Given the description of an element on the screen output the (x, y) to click on. 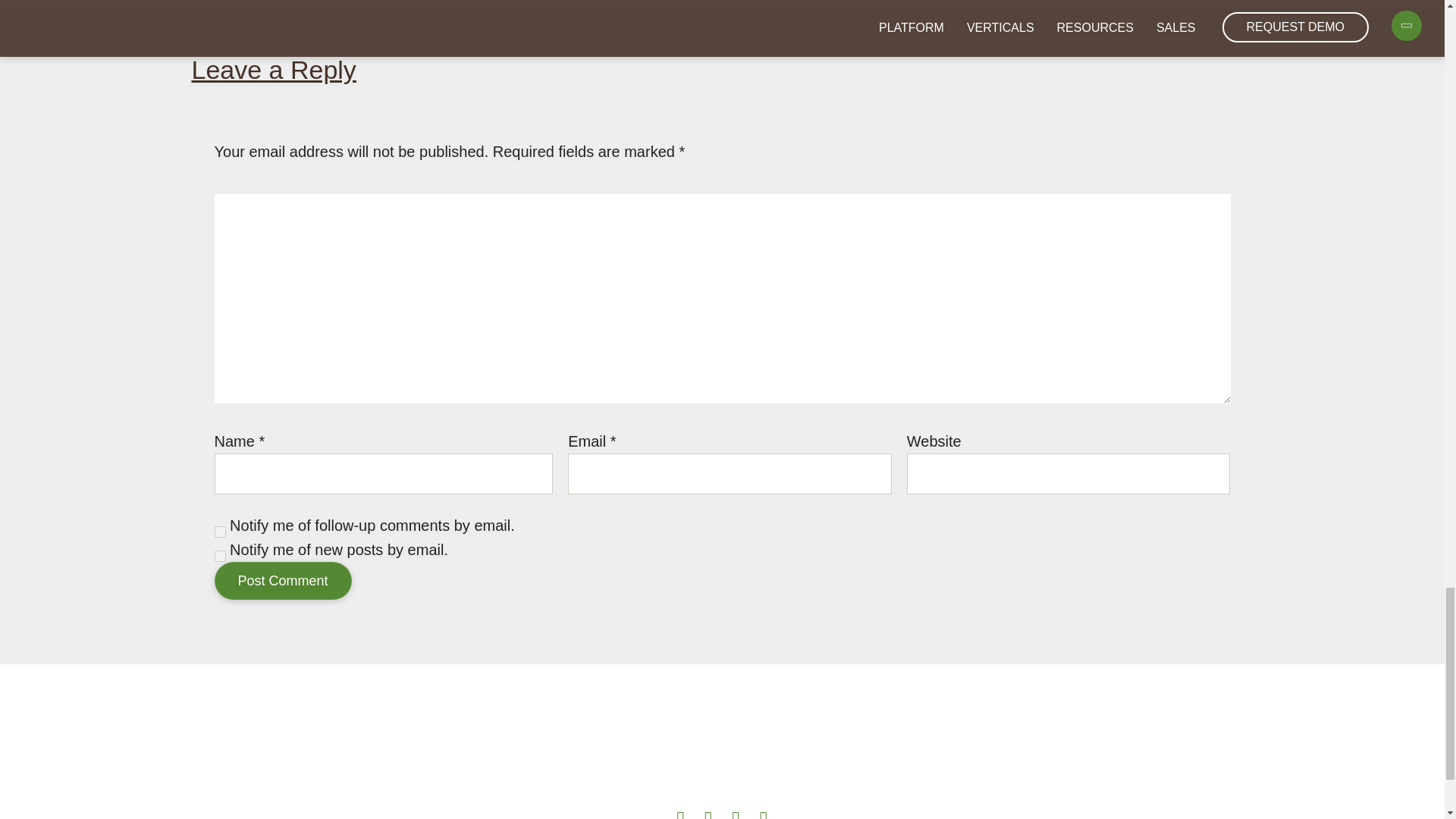
subscribe (219, 555)
Post Comment (282, 580)
subscribe (219, 531)
